Given the description of an element on the screen output the (x, y) to click on. 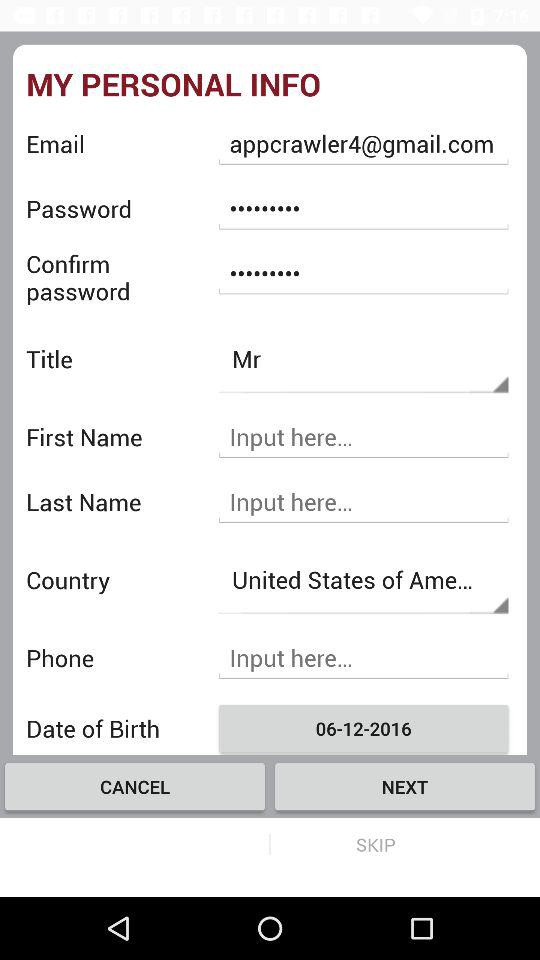
insert last name (363, 502)
